Given the description of an element on the screen output the (x, y) to click on. 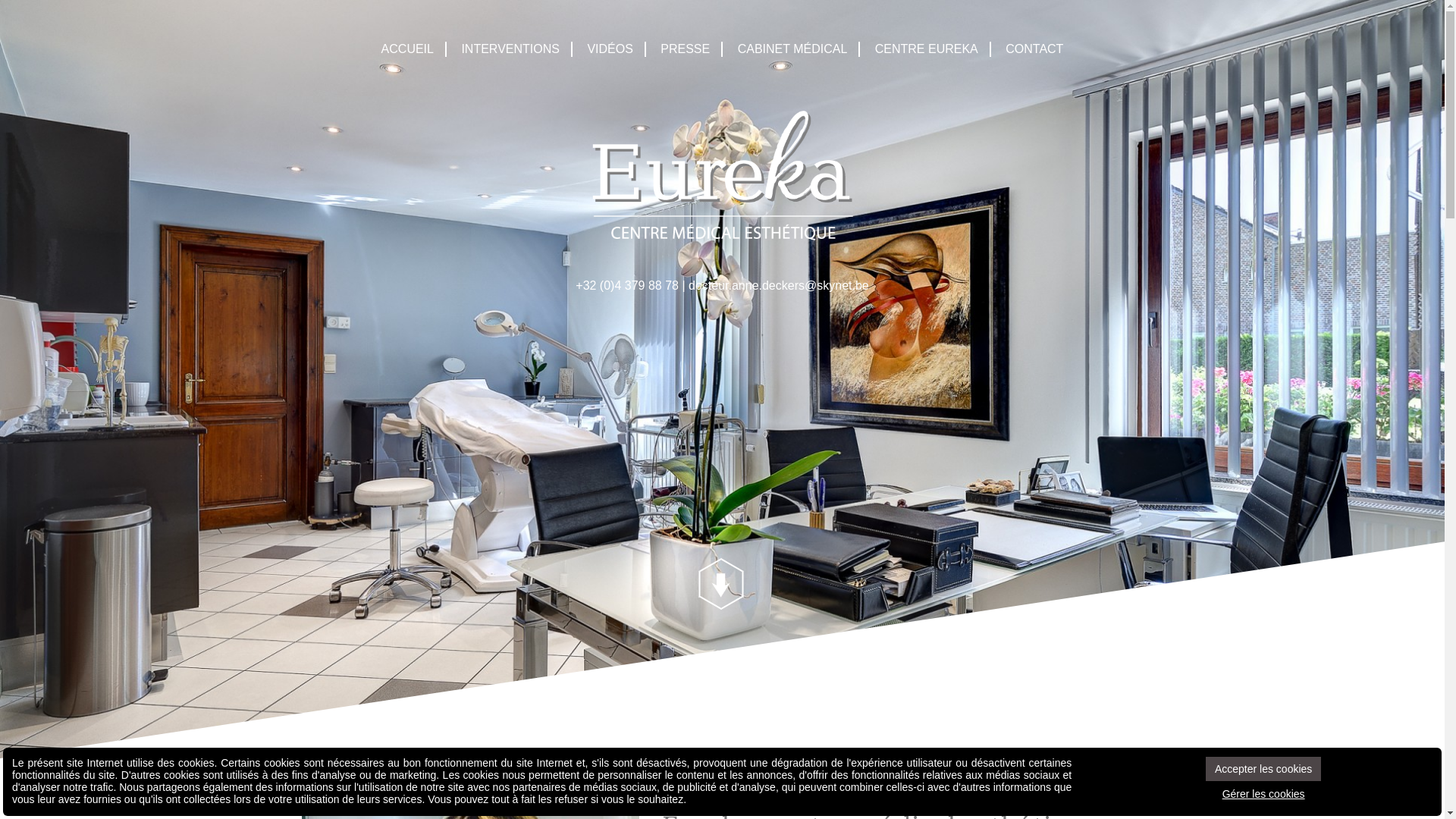
CONTACT Element type: text (1034, 48)
ACCUEIL Element type: text (408, 48)
docteur.anne.deckers@skynet.be Element type: text (778, 285)
CENTRE EUREKA Element type: text (927, 48)
Accepter les cookies Element type: text (1263, 768)
PRESSE Element type: text (685, 48)
+32 (0)4 379 88 78 Element type: text (626, 285)
INTERVENTIONS Element type: text (510, 48)
